Given the description of an element on the screen output the (x, y) to click on. 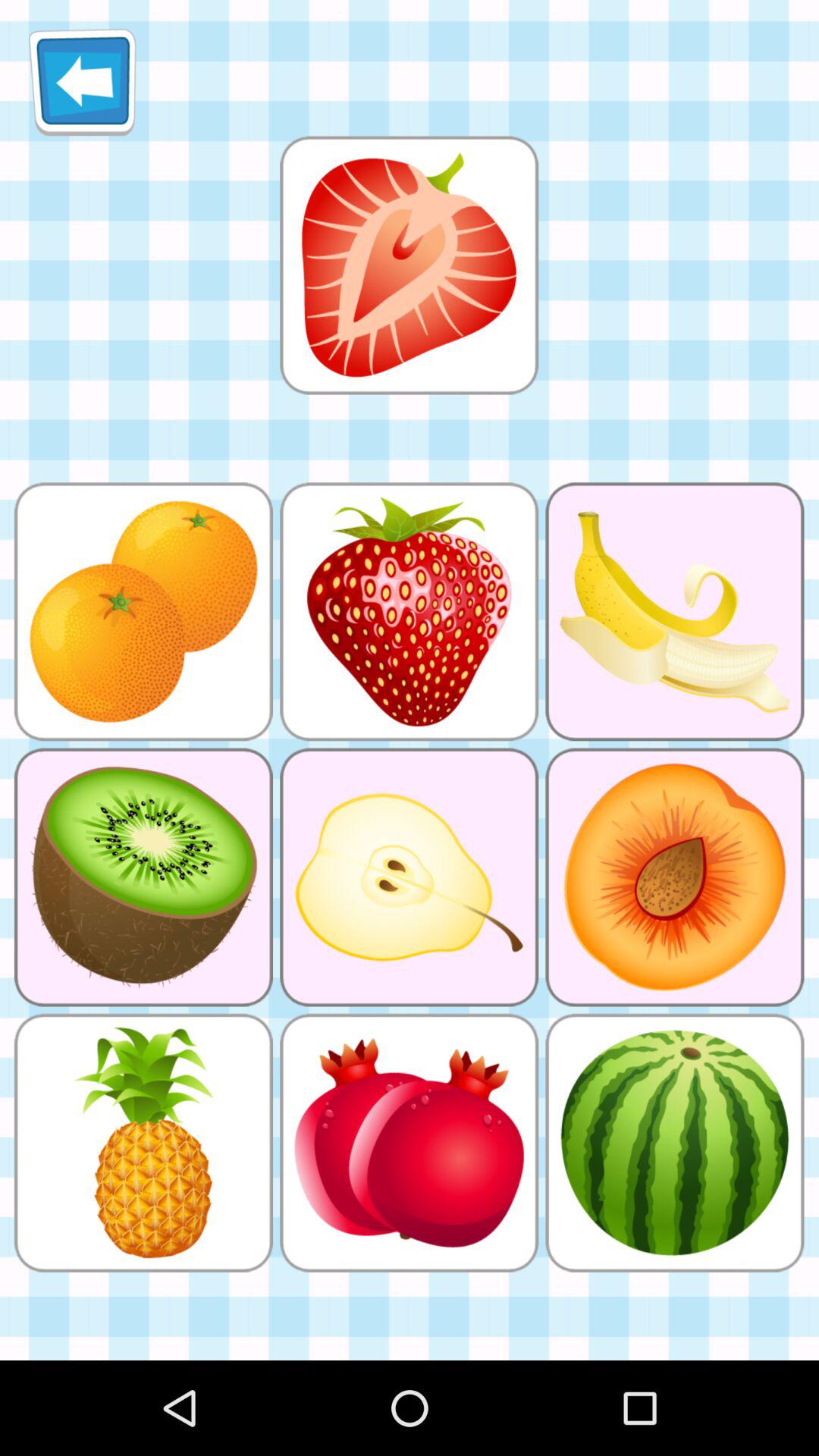
back button (82, 82)
